Given the description of an element on the screen output the (x, y) to click on. 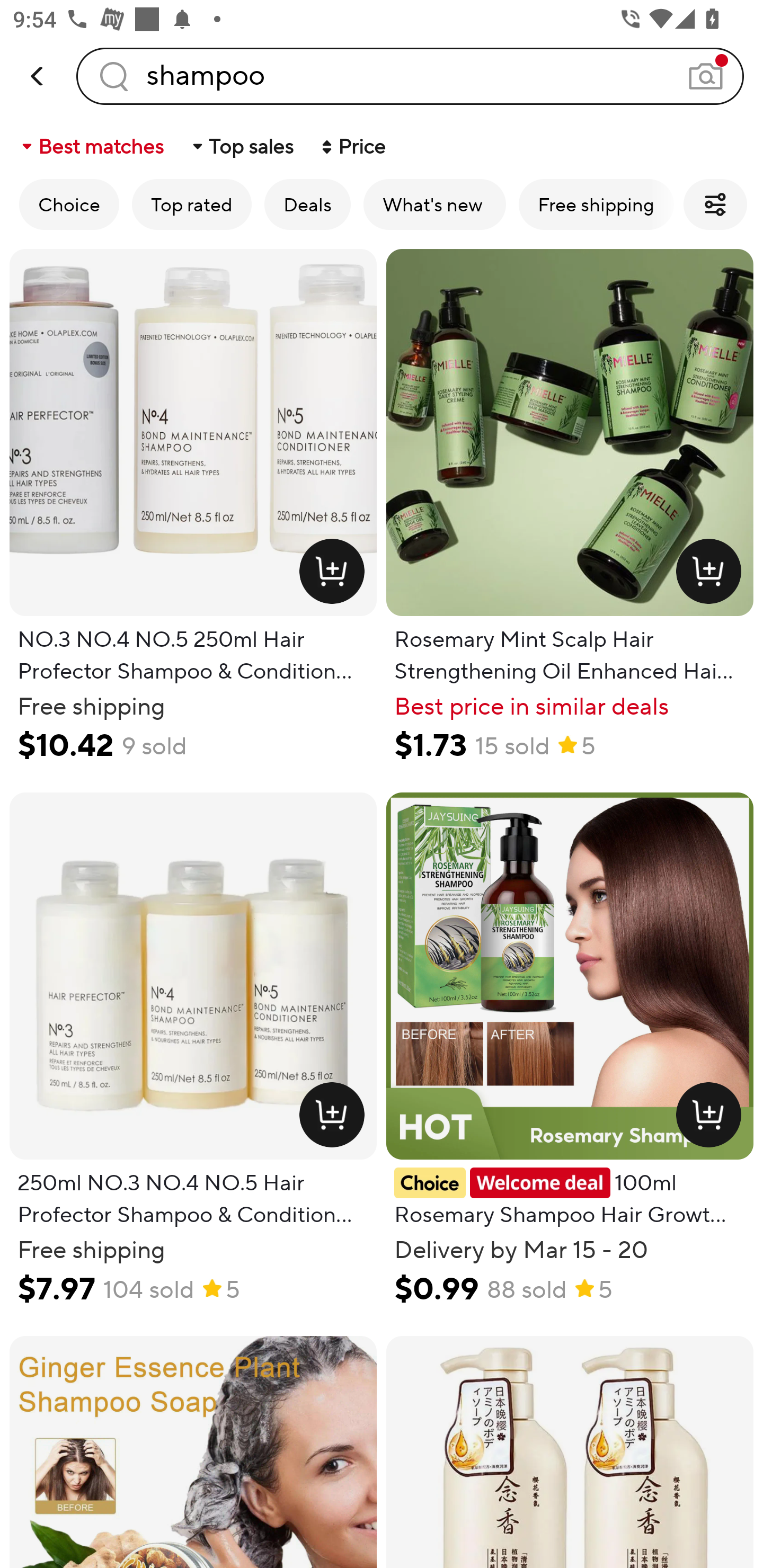
back (38, 75)
shampoo Search query (409, 76)
shampoo Search query (409, 76)
Best matches (91, 146)
Top sales (241, 146)
Price (352, 146)
Choice (69, 204)
Top rated (191, 204)
Deals (307, 204)
What's new  (434, 204)
Free shipping (595, 204)
